Given the description of an element on the screen output the (x, y) to click on. 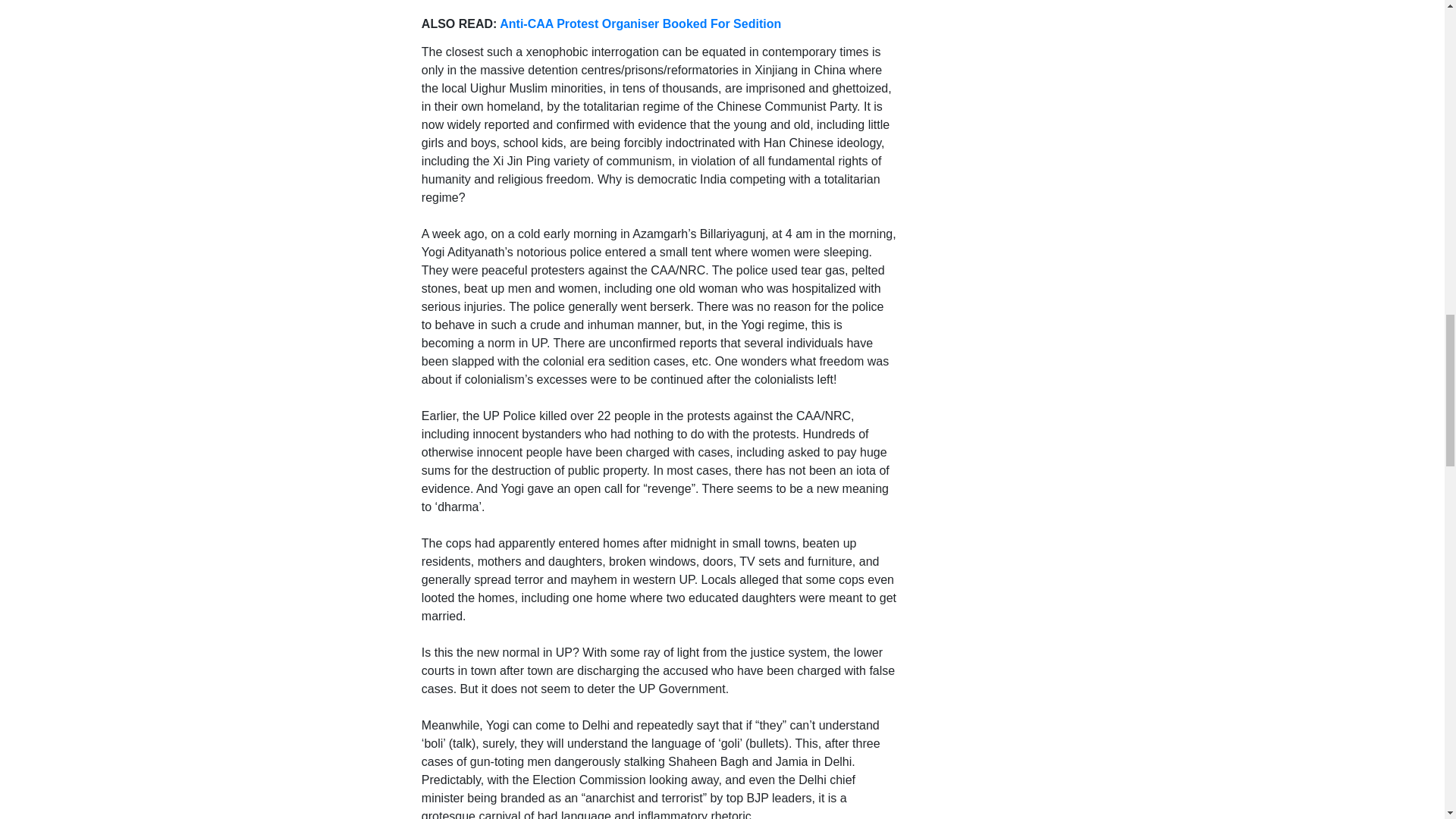
Anti-CAA Protest Organiser Booked For Sedition (639, 23)
